Given the description of an element on the screen output the (x, y) to click on. 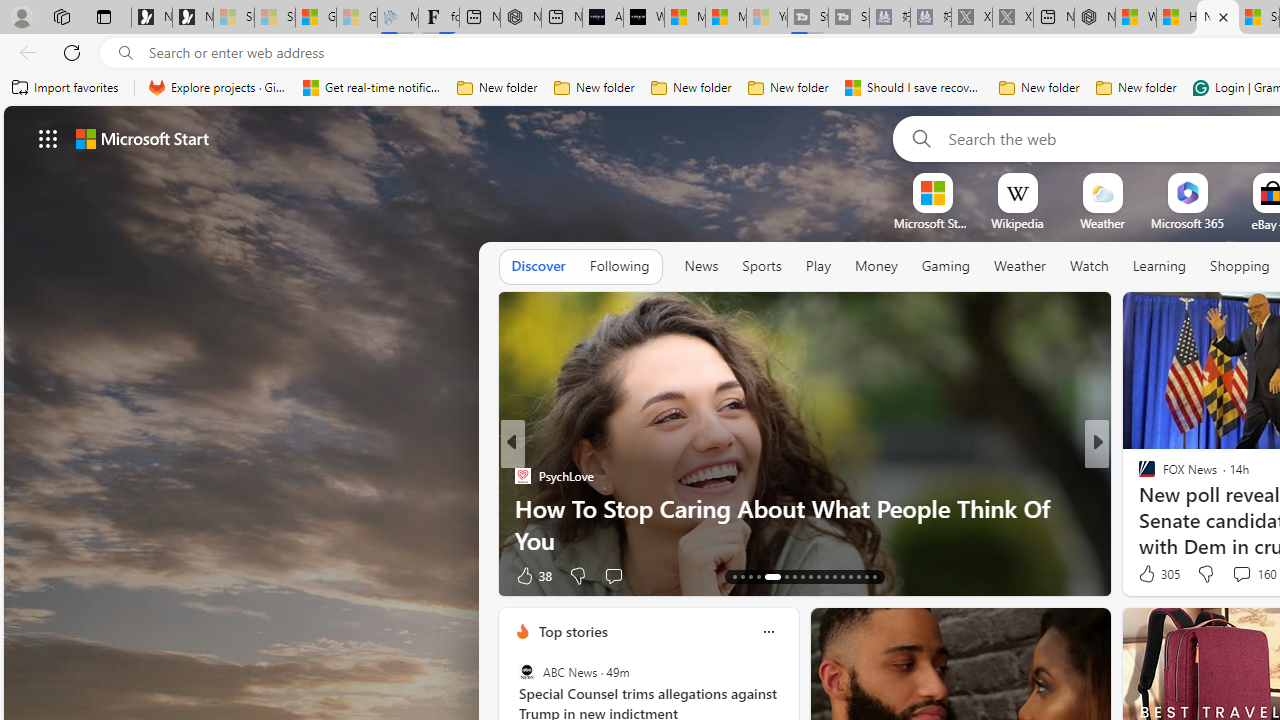
Like (1140, 574)
Nordace - My Account (1094, 17)
Thrift My Life (1138, 475)
AutomationID: tab-41 (857, 576)
View comments 48 Comment (11, 575)
AutomationID: tab-15 (750, 576)
94 Like (1149, 574)
View comments 160 Comment (1241, 573)
AutomationID: tab-25 (842, 576)
